Given the description of an element on the screen output the (x, y) to click on. 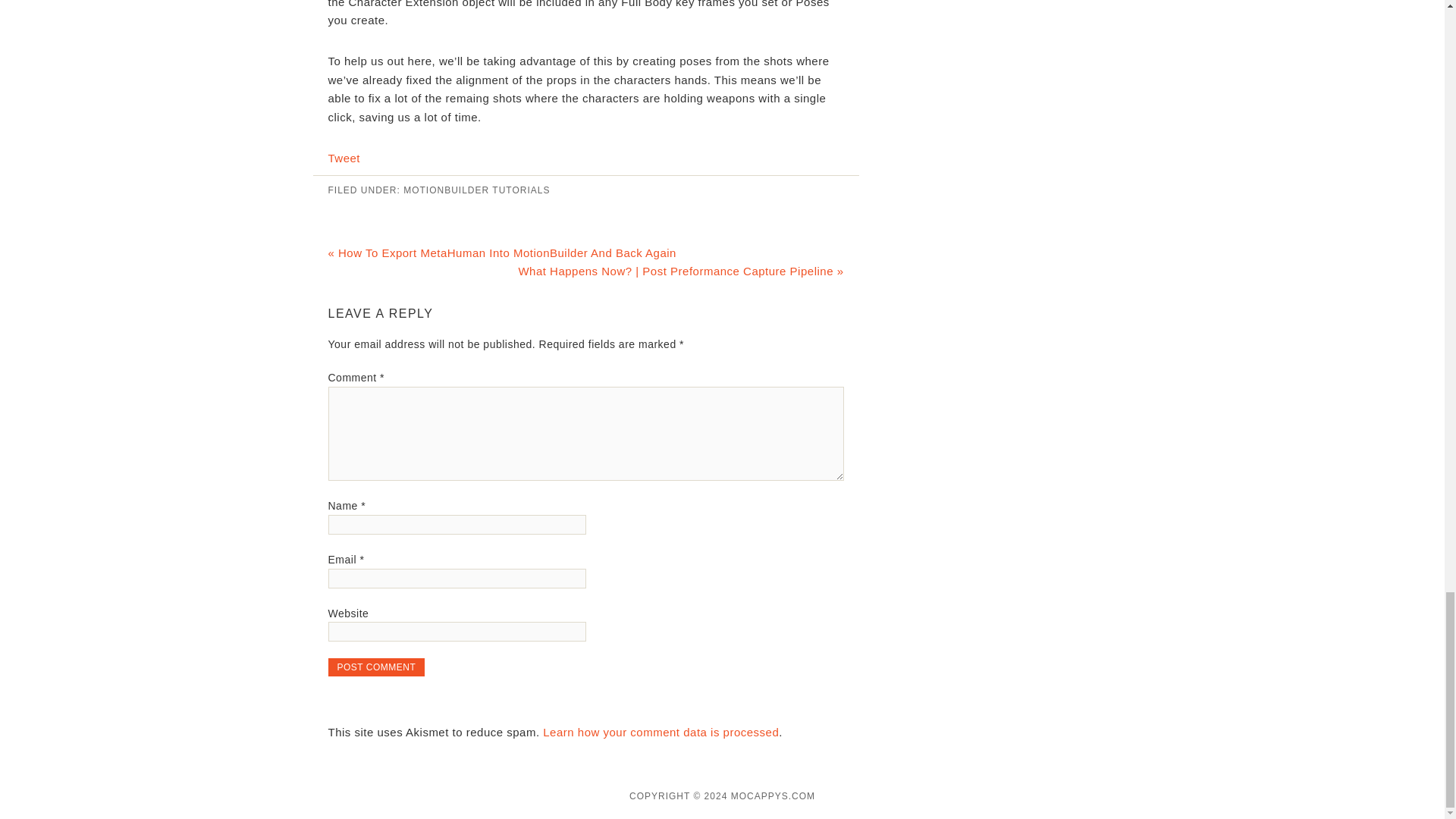
Learn how your comment data is processed (660, 731)
Post Comment (376, 667)
MOTIONBUILDER TUTORIALS (476, 190)
Tweet (343, 157)
Post Comment (376, 667)
